Given the description of an element on the screen output the (x, y) to click on. 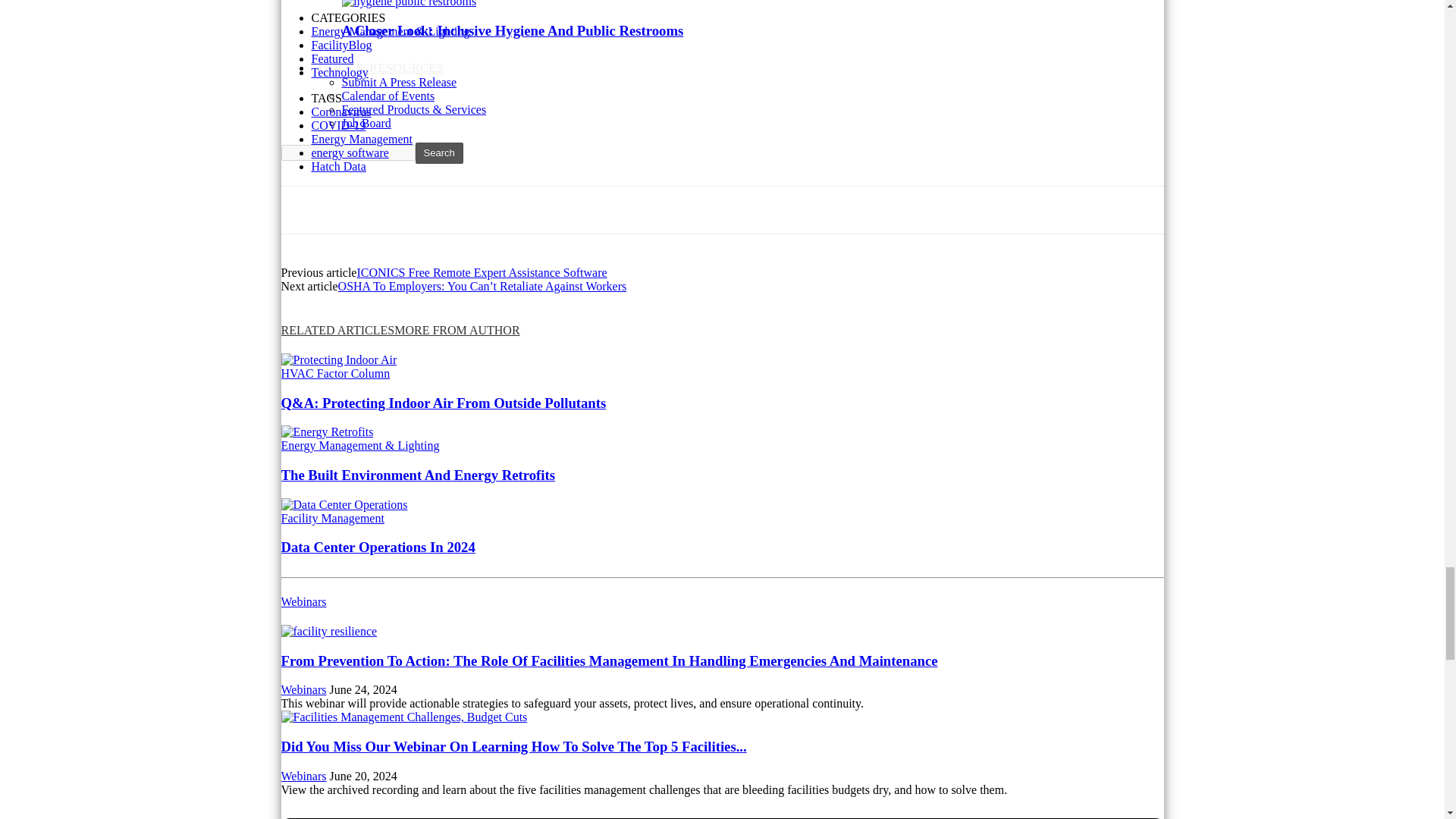
Search (438, 152)
